Given the description of an element on the screen output the (x, y) to click on. 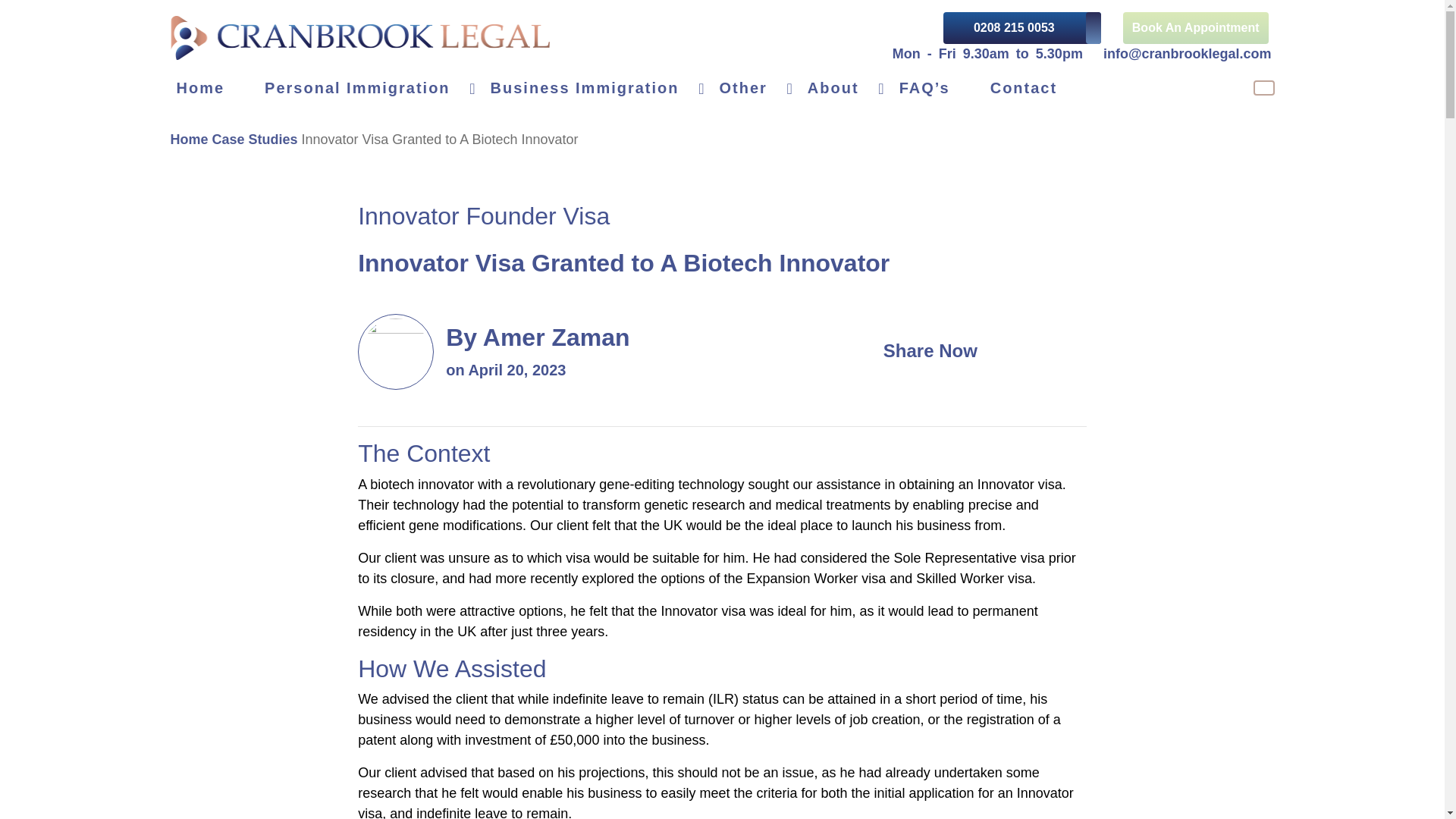
Home (214, 87)
Book An Appointment (1195, 28)
0208 215 0053 (1021, 28)
Personal Immigration (371, 87)
